Given the description of an element on the screen output the (x, y) to click on. 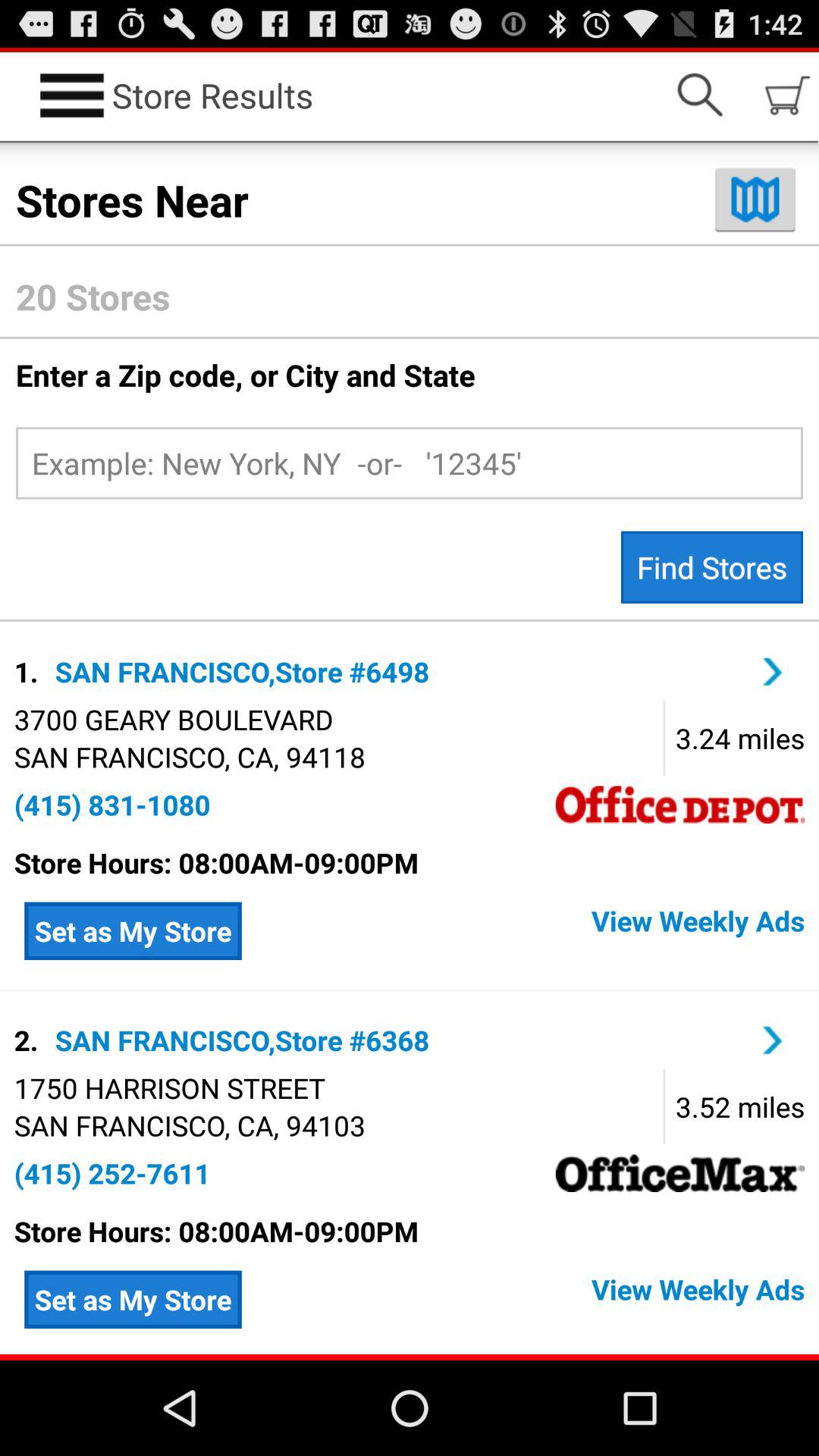
choose item above san francisco ca icon (169, 1087)
